Given the description of an element on the screen output the (x, y) to click on. 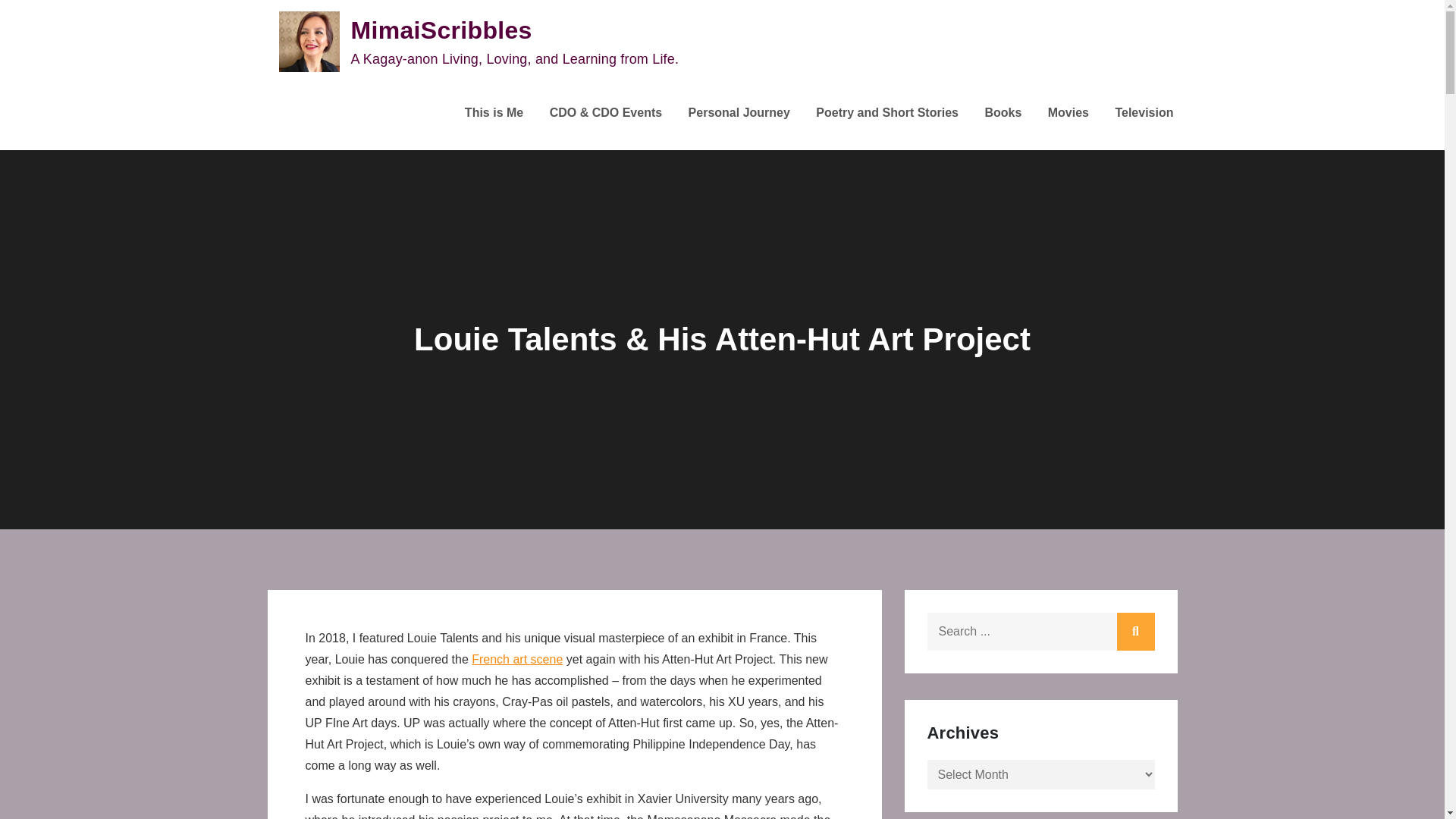
MimaiScribbles (440, 30)
Personal Journey (739, 112)
Television (1144, 112)
Search (1135, 631)
Search for: (1040, 631)
Poetry and Short Stories (886, 112)
This is Me (493, 112)
Movies (1068, 112)
Books (1003, 112)
French art scene (516, 658)
